Given the description of an element on the screen output the (x, y) to click on. 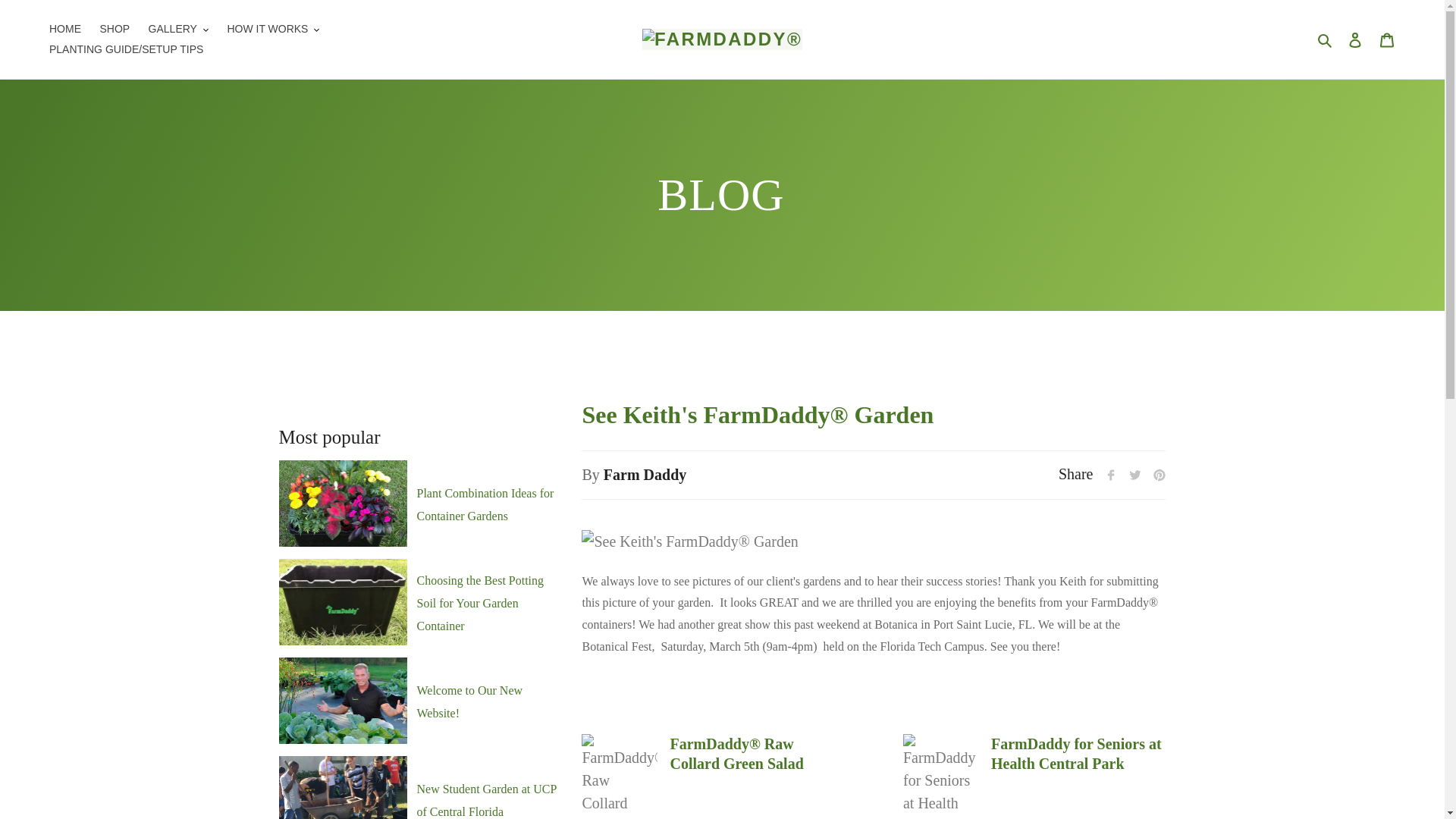
Cart (1387, 39)
Choosing the Best Potting Soil for Your Garden Container (479, 603)
Welcome to Our New Website! (469, 701)
Log in (1355, 39)
GALLERY (178, 28)
Farm Daddy (644, 474)
Search (1326, 39)
SHOP (113, 28)
HOME (65, 28)
Plant Combination Ideas for Container Gardens (484, 504)
